Given the description of an element on the screen output the (x, y) to click on. 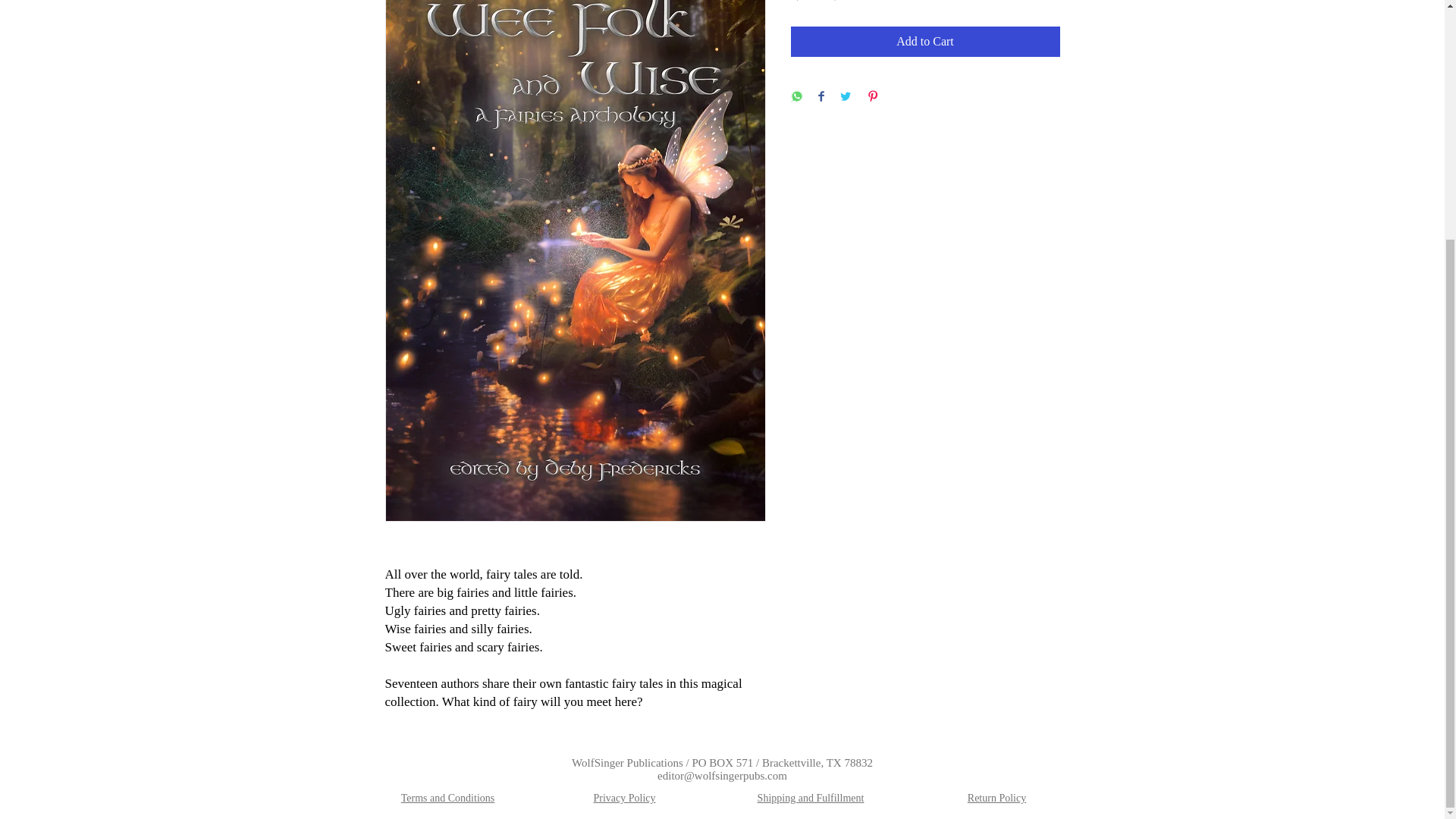
Terms and Conditions (448, 797)
Shipping and Fulfillment (810, 797)
Add to Cart (924, 41)
Privacy Policy (623, 797)
Return Policy (997, 797)
